Given the description of an element on the screen output the (x, y) to click on. 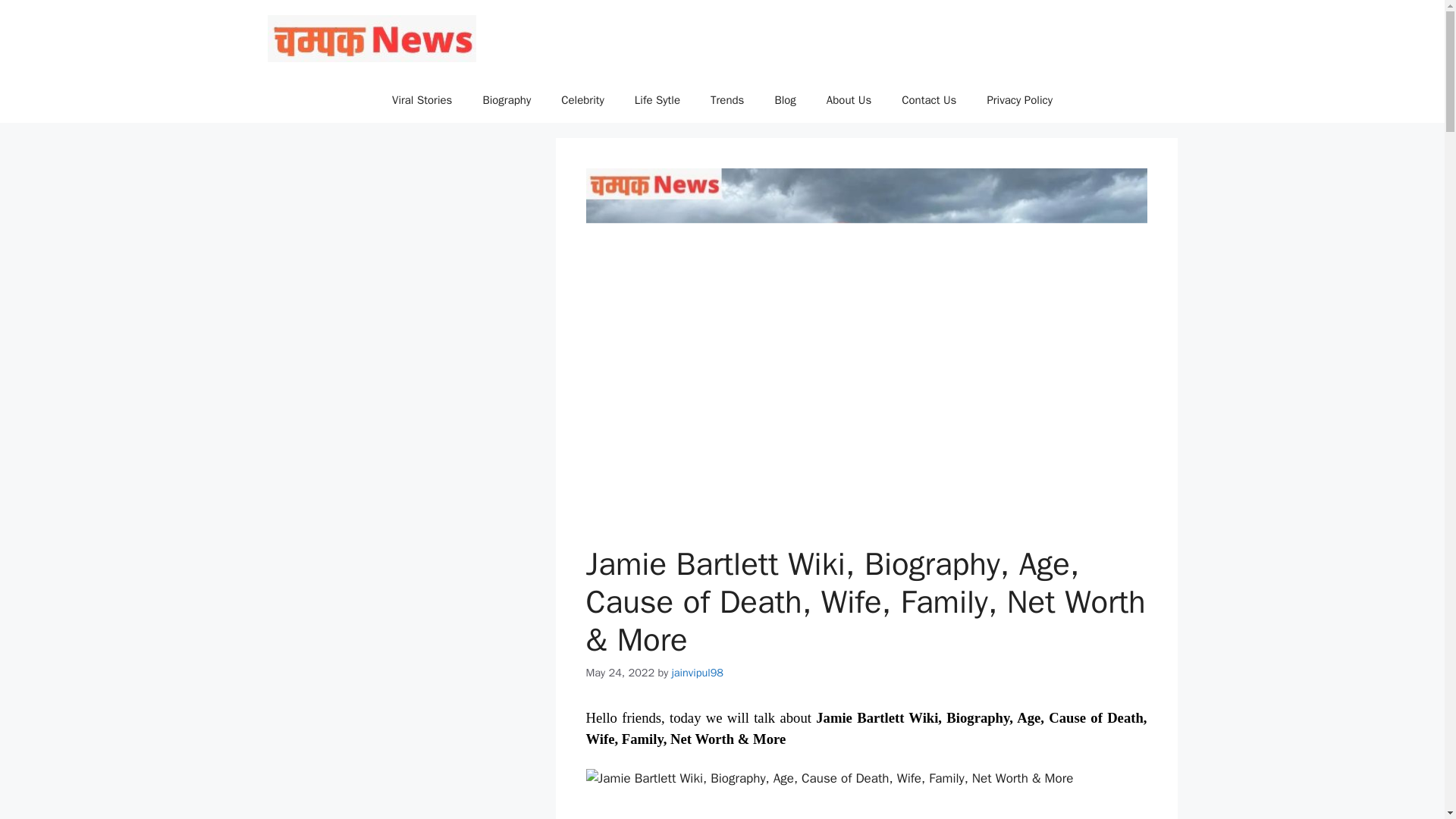
Biography (506, 99)
Privacy Policy (1019, 99)
Blog (784, 99)
Contact Us (928, 99)
jainvipul98 (697, 672)
Viral Stories (422, 99)
Life Sytle (657, 99)
Trends (726, 99)
About Us (848, 99)
Celebrity (583, 99)
View all posts by jainvipul98 (697, 672)
